Given the description of an element on the screen output the (x, y) to click on. 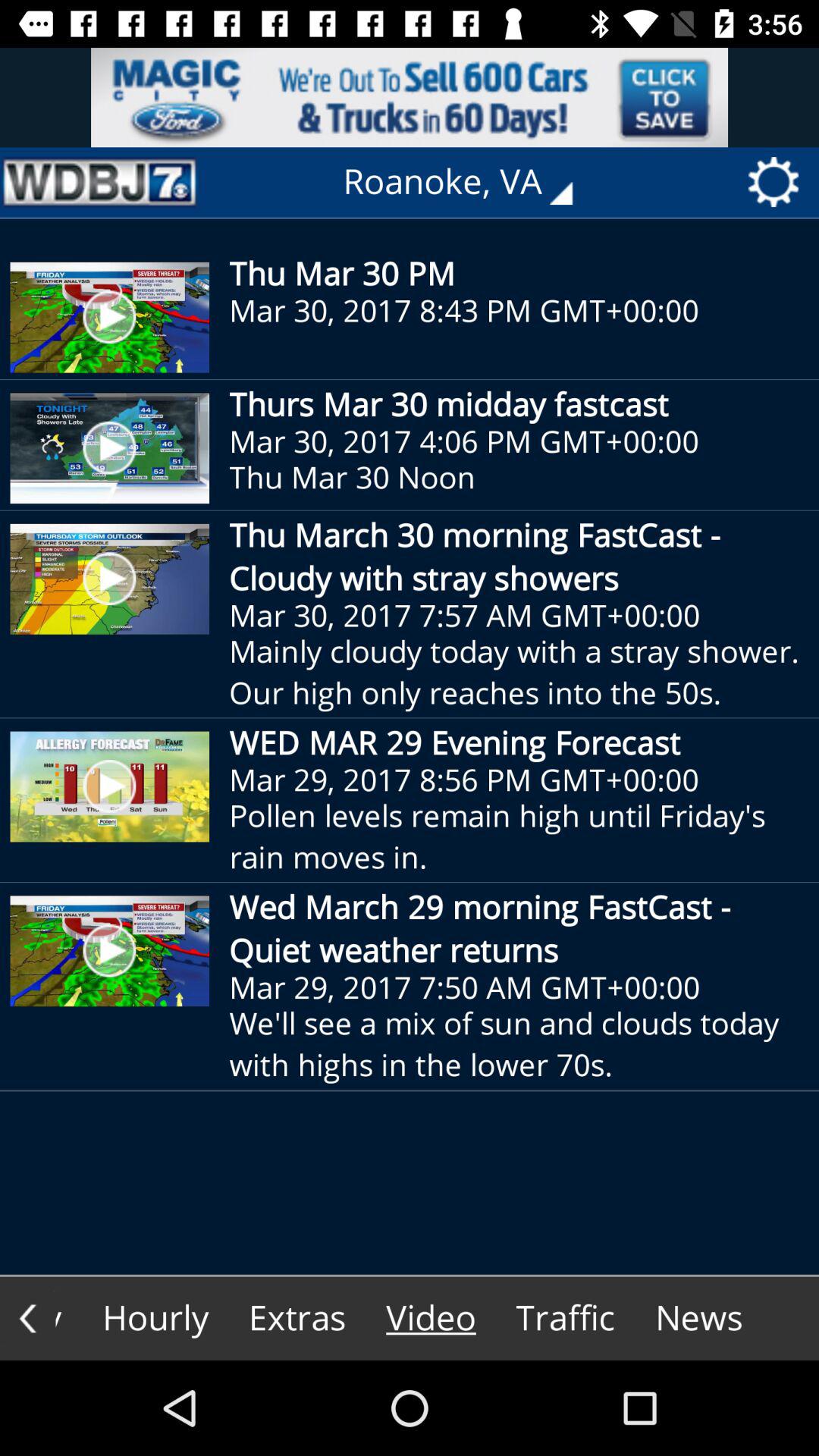
press roanoke, va item (468, 182)
